Given the description of an element on the screen output the (x, y) to click on. 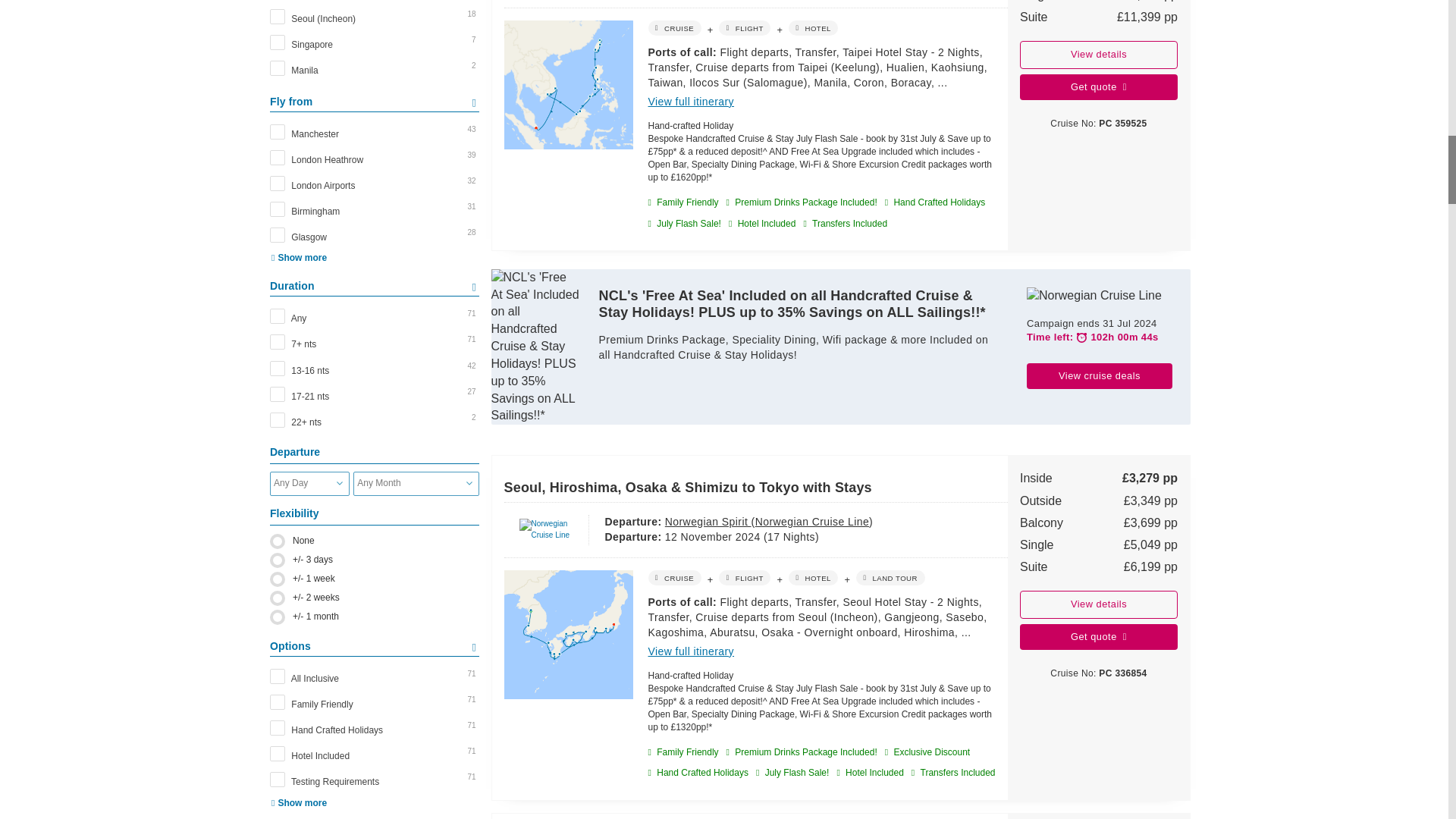
Show more (297, 802)
Show more (297, 257)
